Given the description of an element on the screen output the (x, y) to click on. 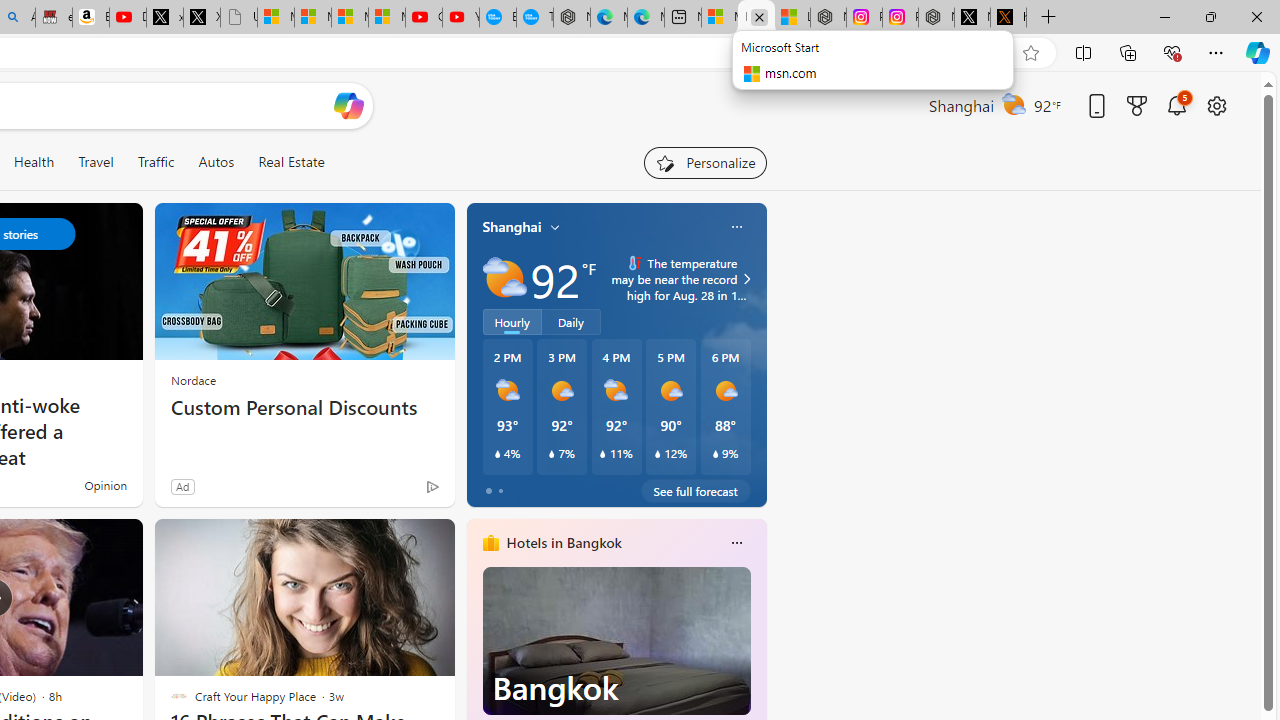
Hotels in Bangkok (563, 543)
Partly sunny (504, 278)
Gloom - YouTube (423, 17)
tab-1 (500, 490)
Real Estate (291, 161)
Hide this story (393, 542)
